Given the description of an element on the screen output the (x, y) to click on. 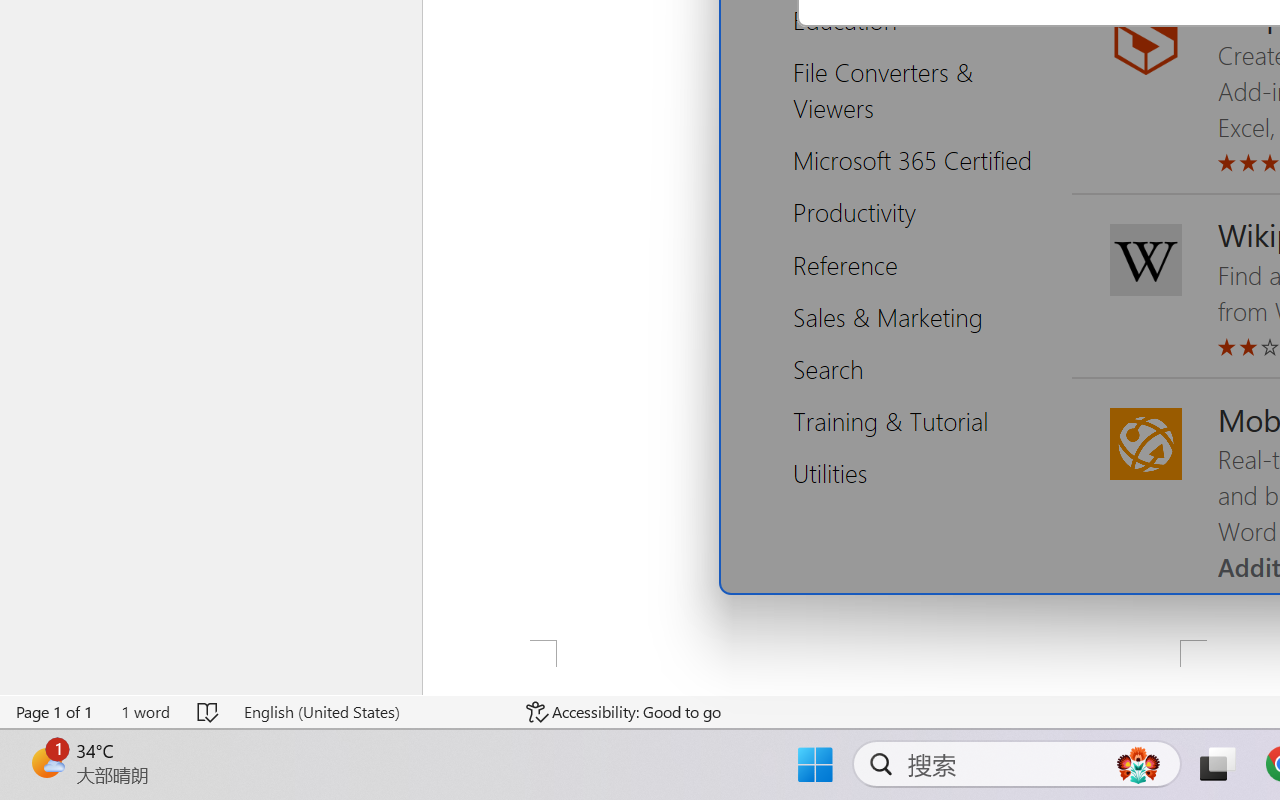
Page Number Page 1 of 1 (55, 712)
AutomationID: BadgeAnchorLargeTicker (46, 762)
Spelling and Grammar Check No Errors (208, 712)
Language English (United States) (370, 712)
AutomationID: DynamicSearchBoxGleamImage (1138, 764)
Accessibility Checker Accessibility: Good to go (623, 712)
Word Count 1 word (145, 712)
